Given the description of an element on the screen output the (x, y) to click on. 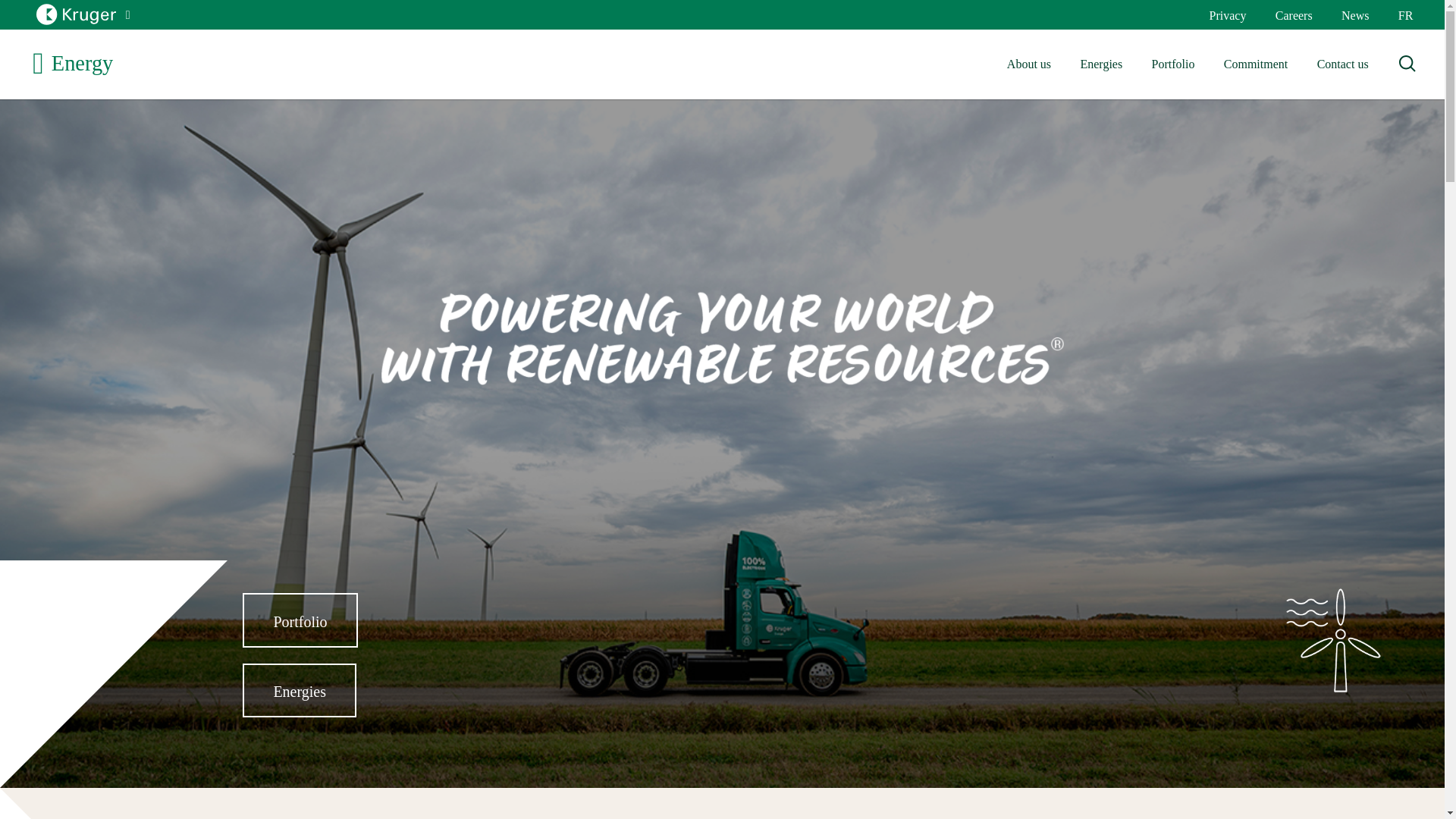
Energy (72, 64)
Careers (1293, 15)
Commitment (1256, 64)
Portfolio (1172, 64)
About us (1028, 64)
Energies (1101, 64)
Careers (1293, 15)
News (1355, 15)
Energies (1101, 64)
Contact us (1341, 64)
Contact us (1341, 64)
About us (1028, 64)
Commitment (1256, 64)
Privacy (1226, 15)
Privacy (1226, 15)
